Given the description of an element on the screen output the (x, y) to click on. 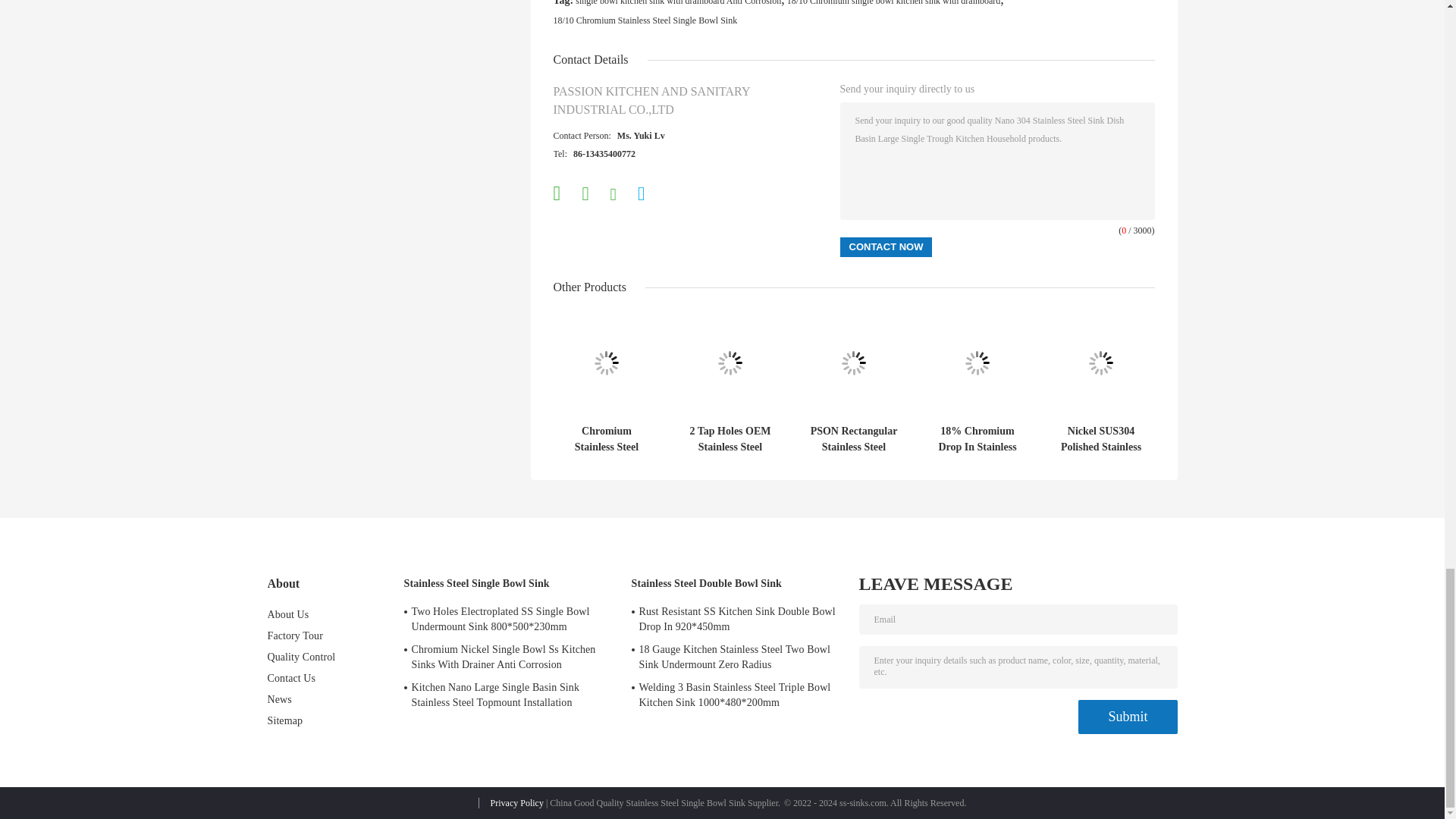
Contact Now (886, 247)
Submit (1127, 716)
